Given the description of an element on the screen output the (x, y) to click on. 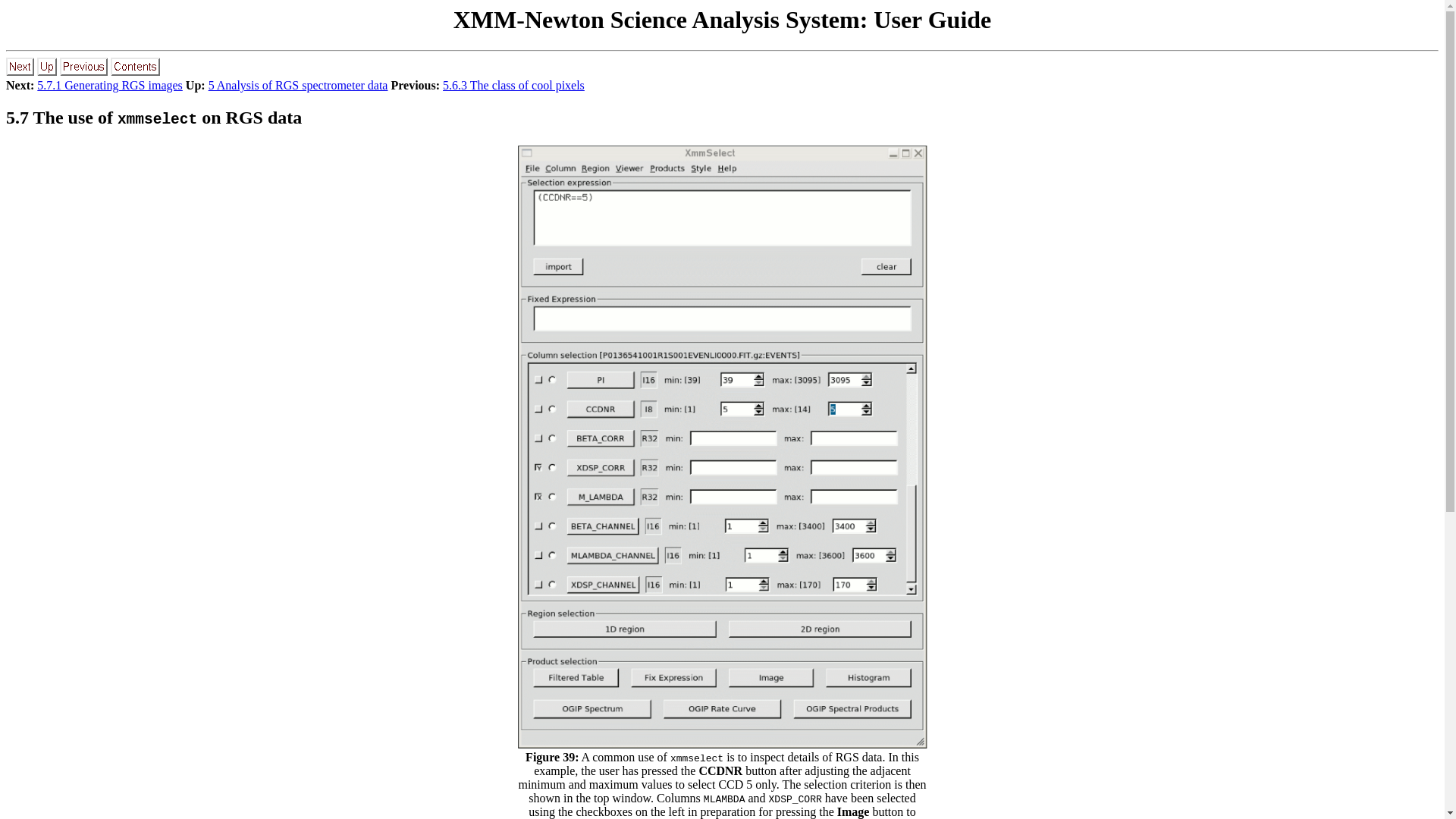
5.7.1 Generating RGS images (110, 84)
5.6.3 The class of cool pixels (513, 84)
5.7 The use of xmmselect on RGS data (153, 117)
5 Analysis of RGS spectrometer data (298, 84)
